Given the description of an element on the screen output the (x, y) to click on. 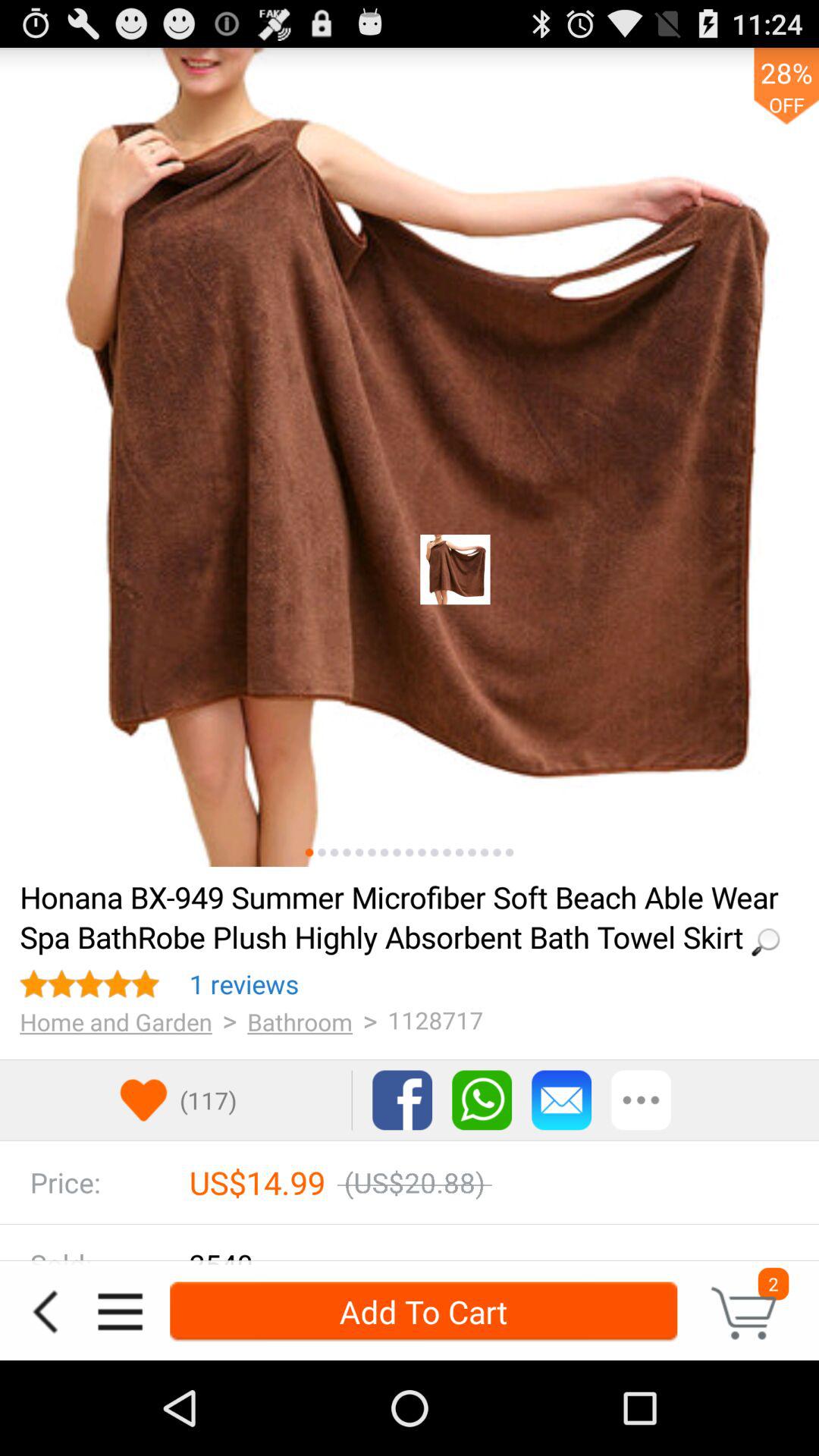
email button (561, 1100)
